Given the description of an element on the screen output the (x, y) to click on. 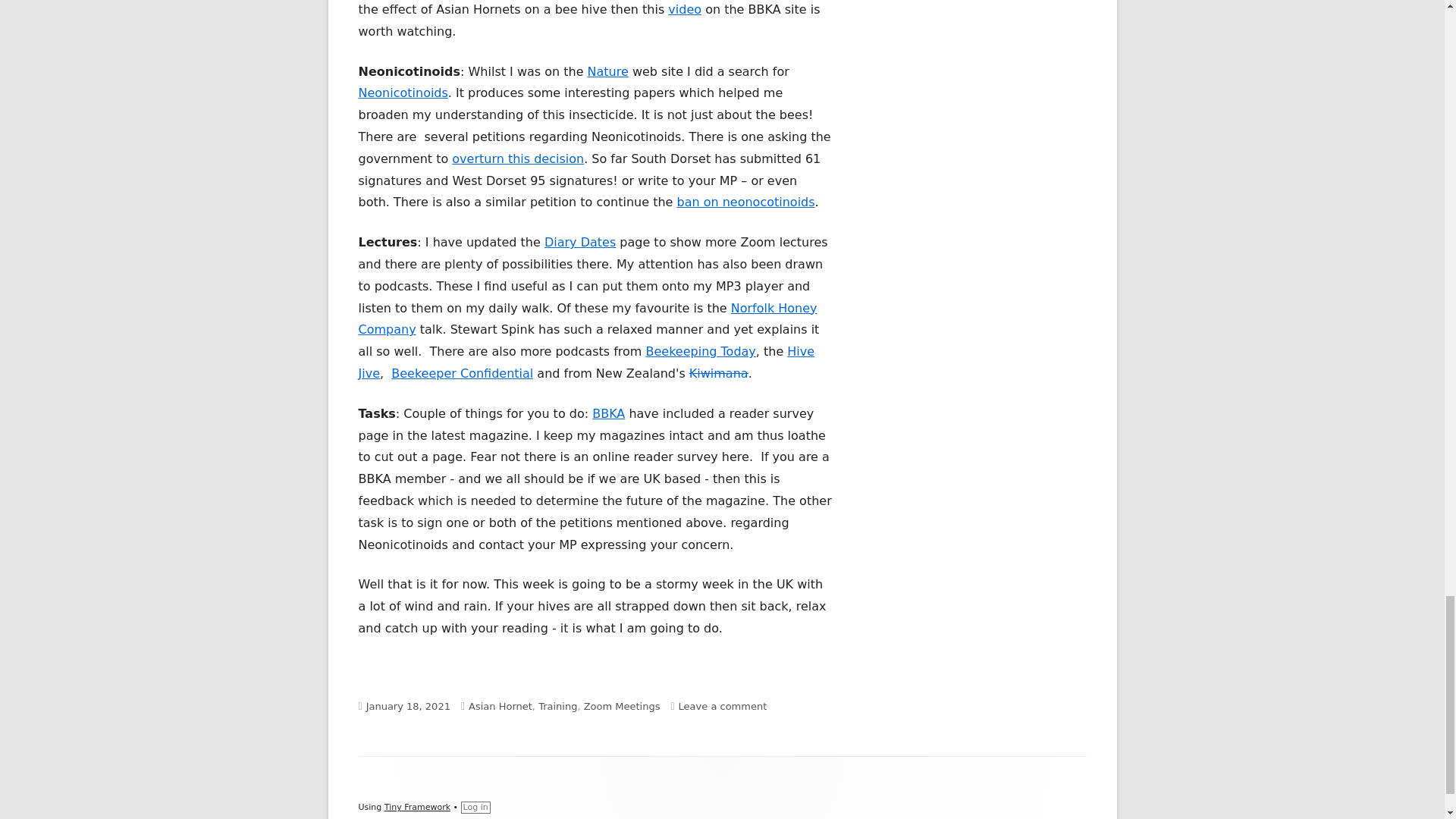
ban on neonocotinoids (745, 201)
Kiwimana (718, 373)
Diary Dates (579, 242)
Neonicotinoids (402, 92)
Asian Hornet (500, 706)
Training (557, 706)
Hive Jive (585, 361)
Nature (608, 71)
video (684, 9)
Beekeeping Today (700, 350)
